Given the description of an element on the screen output the (x, y) to click on. 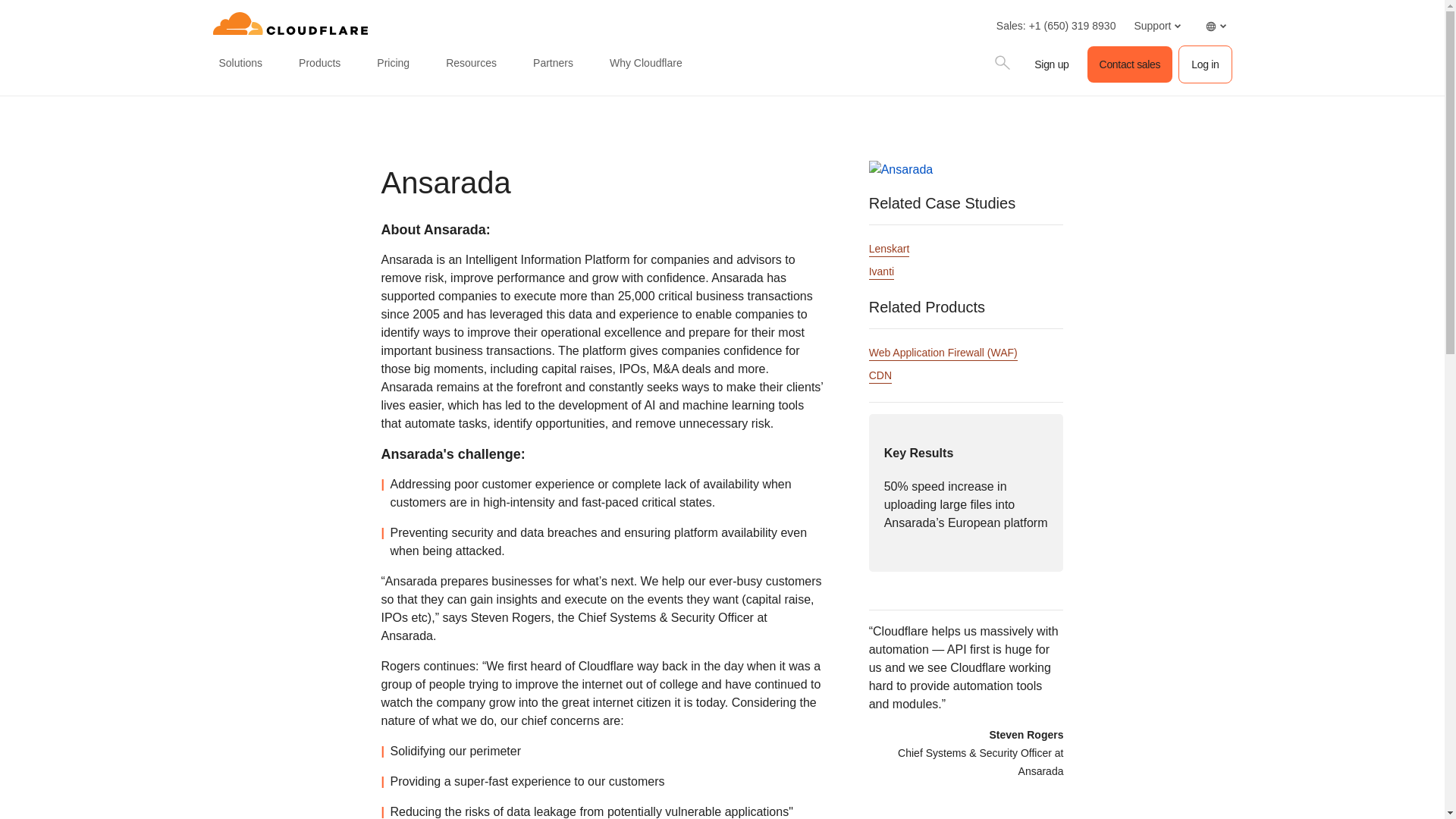
Resources (470, 63)
Solutions (239, 63)
Sign up (1051, 63)
Products (319, 63)
Support (1156, 26)
Contact sales (1130, 63)
Log in (1204, 64)
Pricing (392, 63)
Why Cloudflare (646, 63)
Lenskart (889, 249)
Ivanti (881, 272)
Partners (553, 63)
CDN (880, 375)
